Given the description of an element on the screen output the (x, y) to click on. 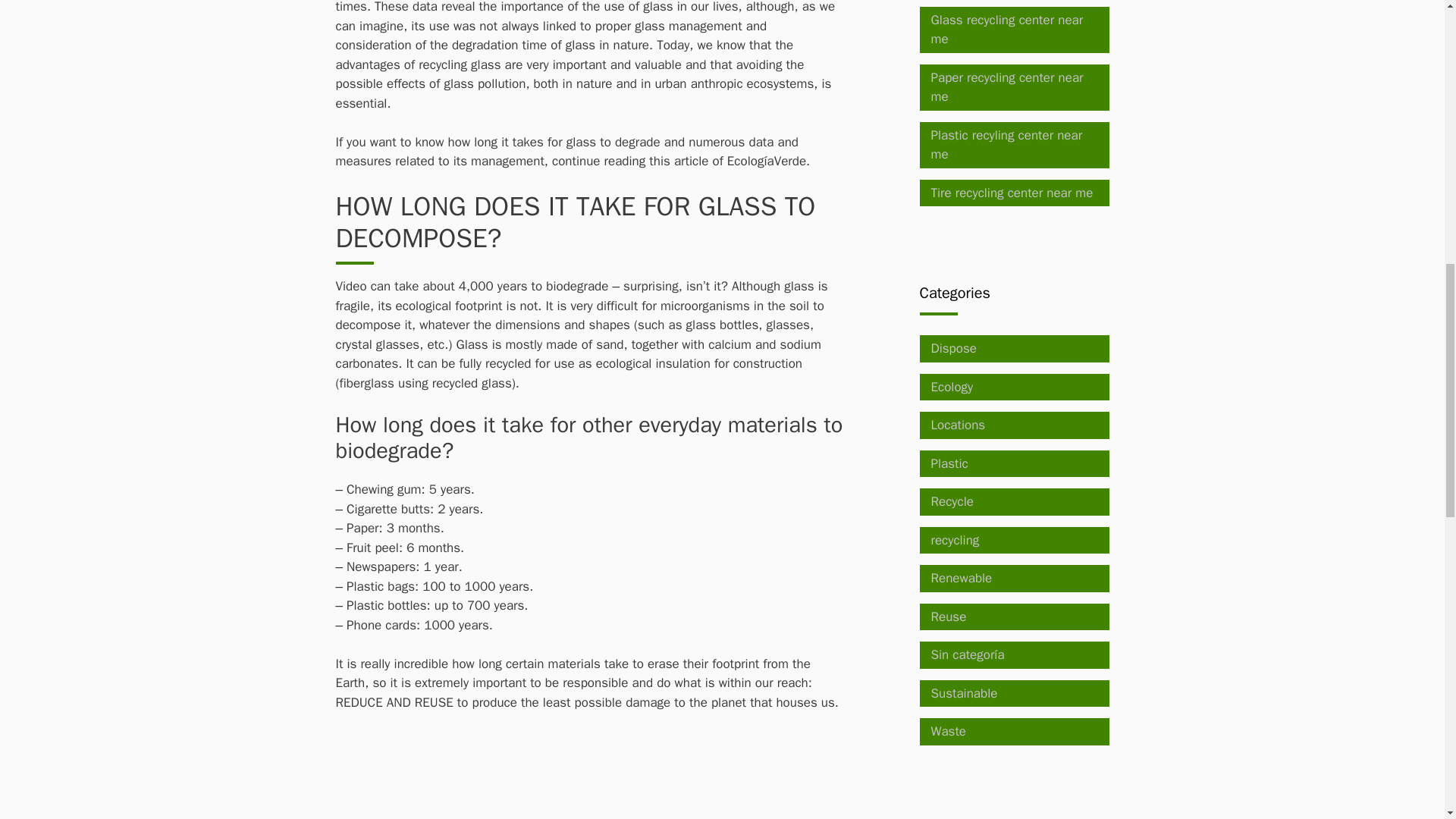
Dispose (953, 348)
Glass recycling center near me (1007, 29)
Plastic recyling center near me (1007, 144)
Paper recycling center near me (1007, 87)
Tire recycling center near me (1012, 192)
Ecology (952, 386)
